Given the description of an element on the screen output the (x, y) to click on. 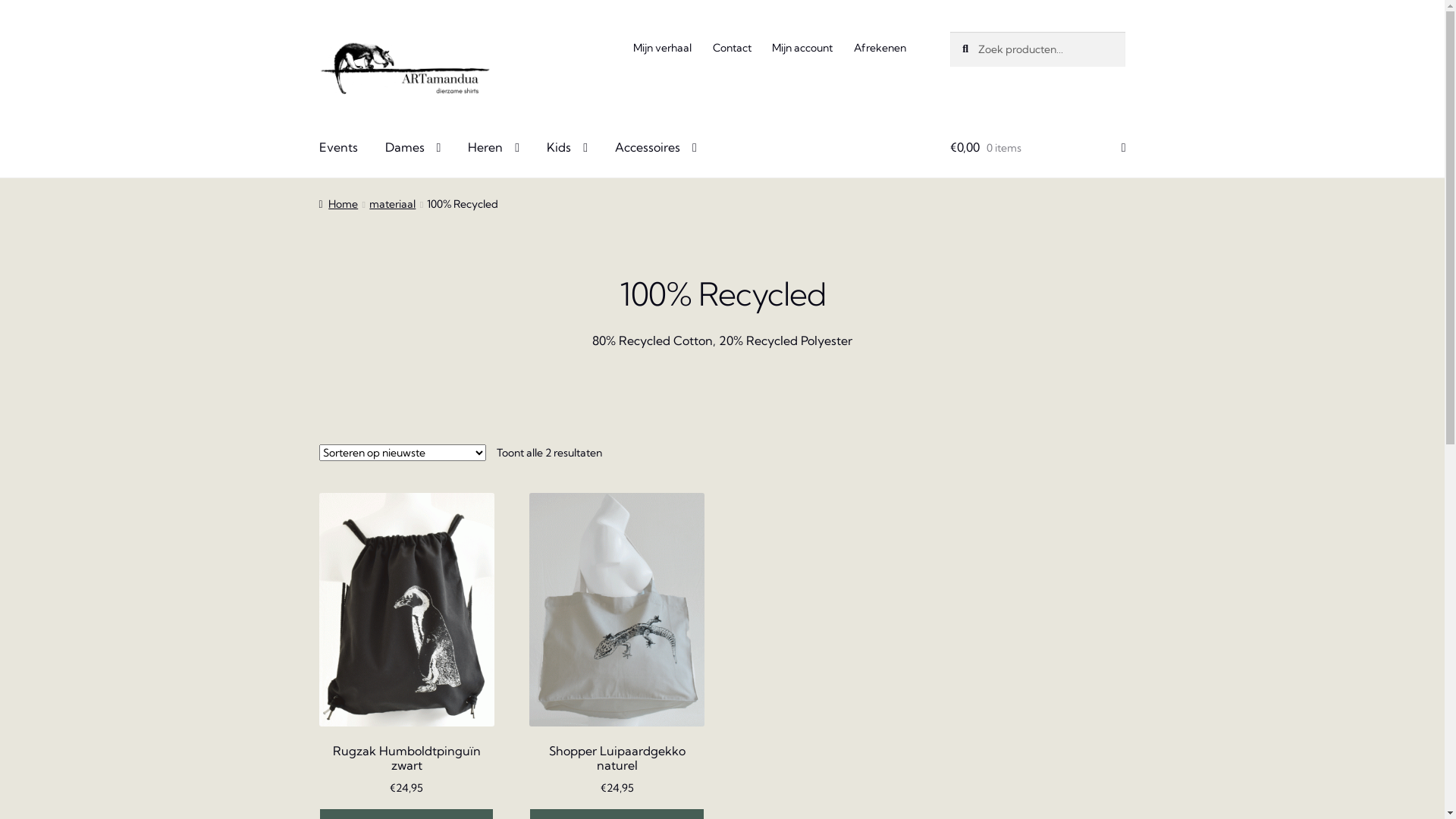
Kids Element type: text (566, 148)
Home Element type: text (338, 203)
Events Element type: text (338, 148)
Zoeken Element type: text (949, 31)
Contact Element type: text (731, 47)
Dames Element type: text (413, 148)
Afrekenen Element type: text (879, 47)
Mijn account Element type: text (802, 47)
Heren Element type: text (493, 148)
Mijn verhaal Element type: text (662, 47)
materiaal Element type: text (392, 203)
Ga door naar navigatie Element type: text (318, 31)
Accessoires Element type: text (655, 148)
